Given the description of an element on the screen output the (x, y) to click on. 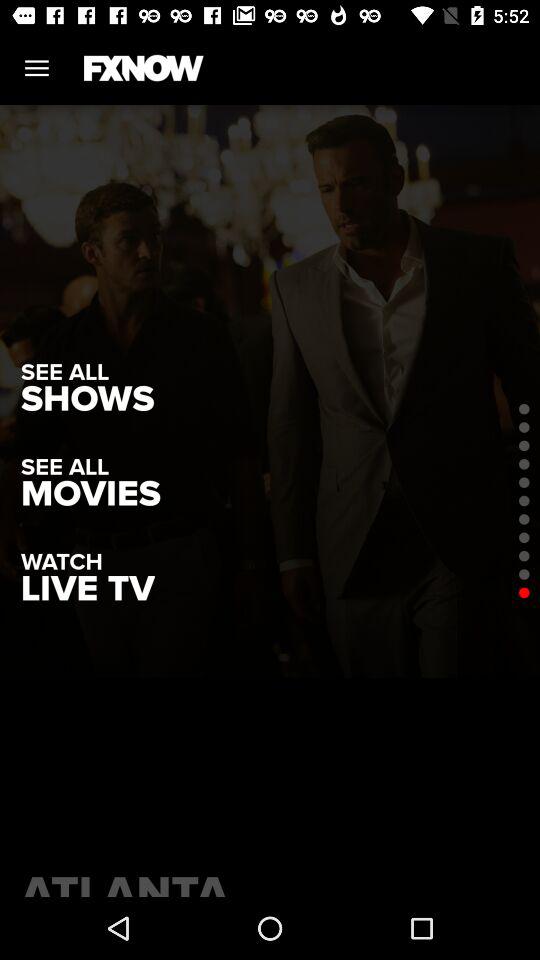
flip to the shows (87, 398)
